Given the description of an element on the screen output the (x, y) to click on. 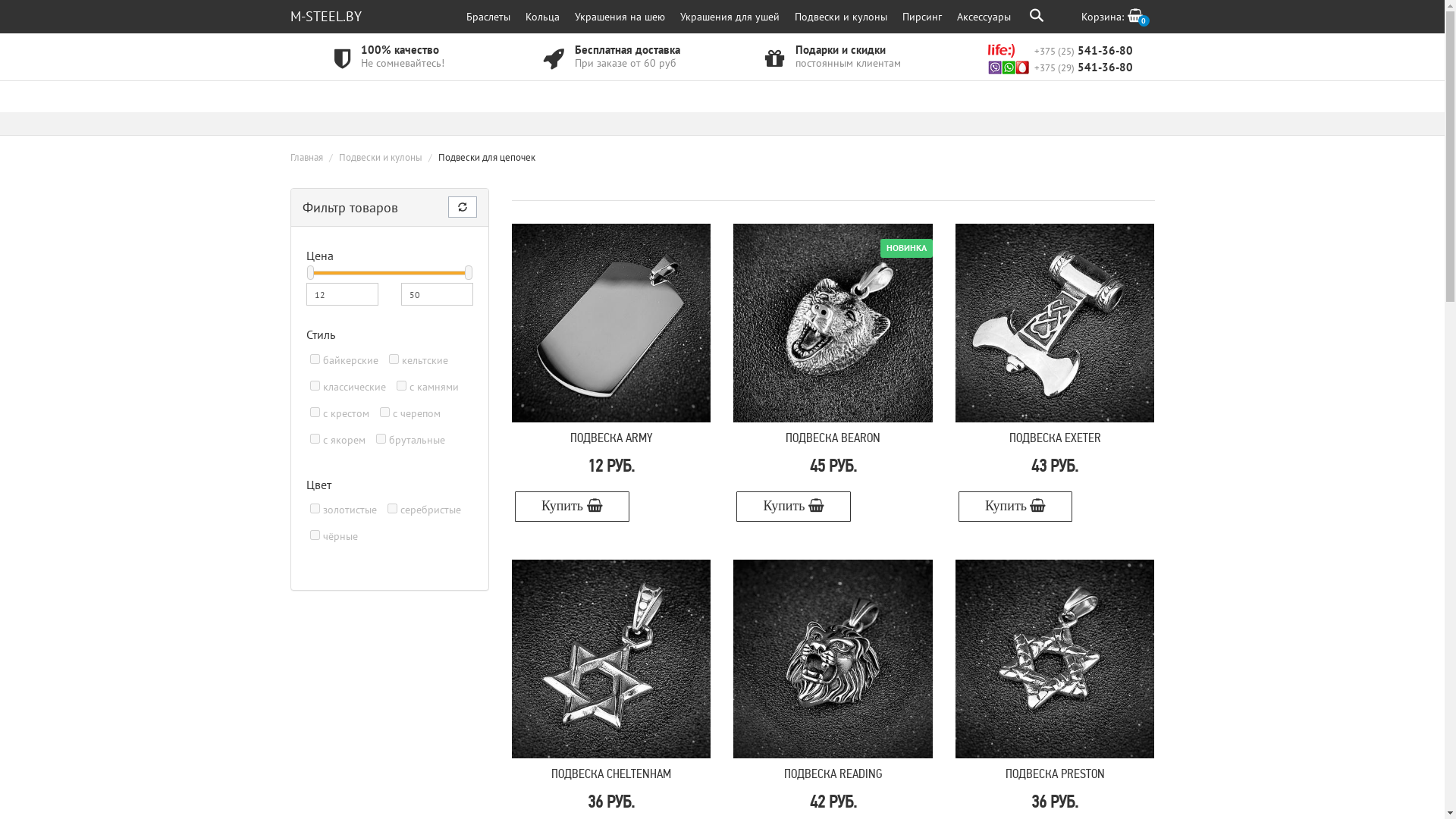
+375 (25) 541-36-80 Element type: text (1060, 50)
+375 (29) 541-36-80 Element type: text (1060, 66)
M-STEEL.BY Element type: text (324, 16)
